Given the description of an element on the screen output the (x, y) to click on. 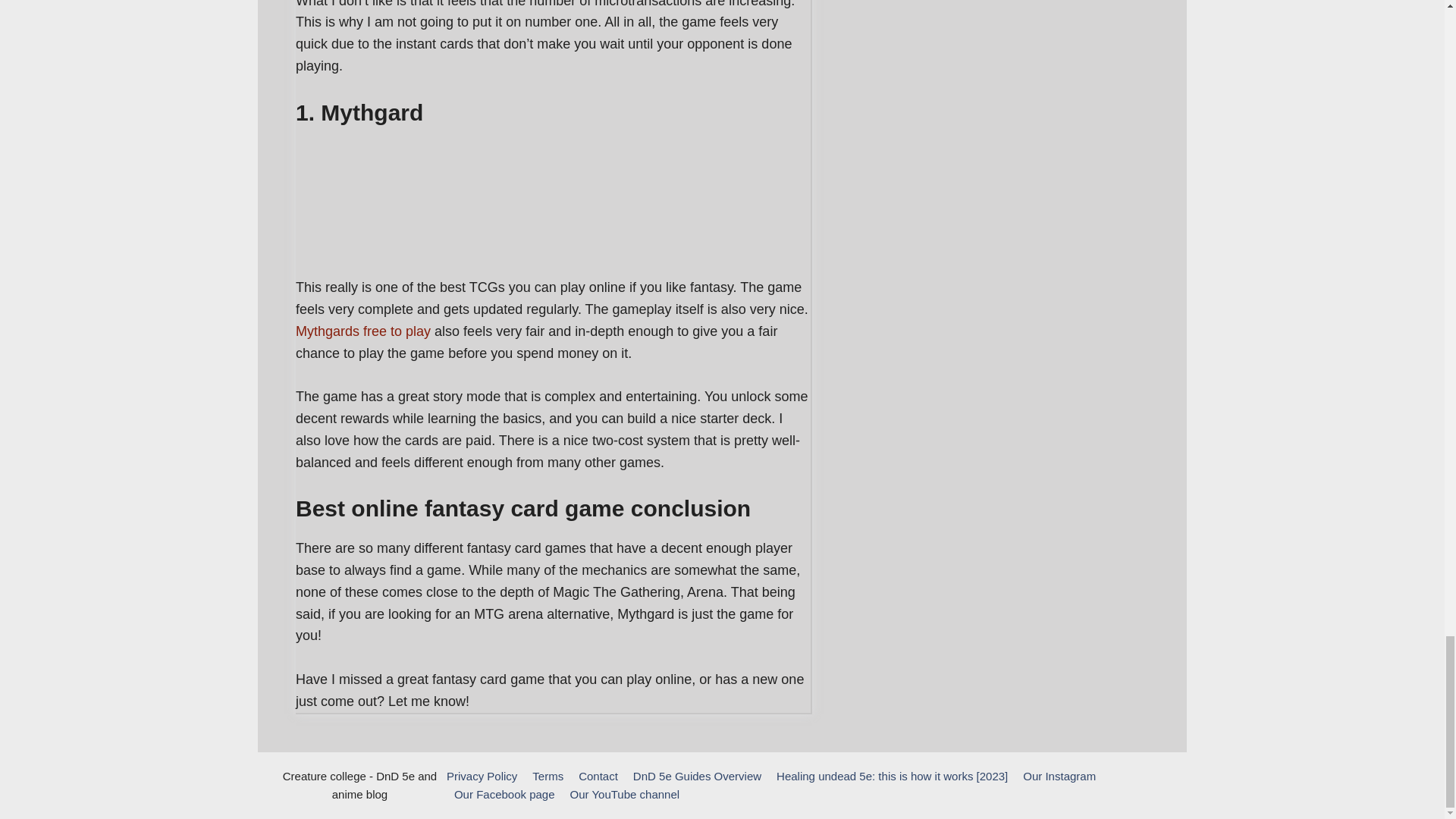
Contact (597, 775)
Privacy Policy (481, 775)
Mythgards free to play (362, 331)
Terms (547, 775)
